Given the description of an element on the screen output the (x, y) to click on. 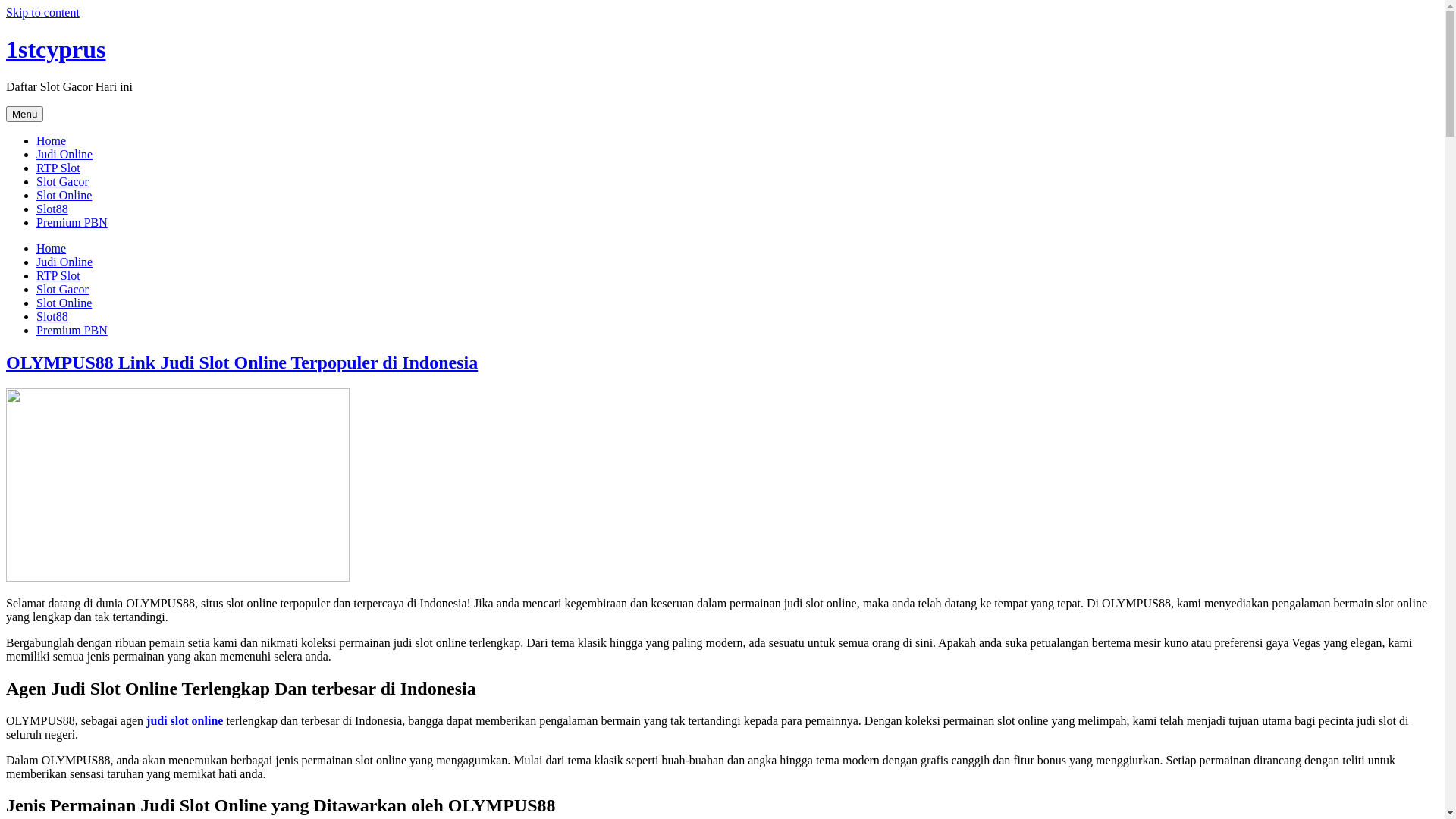
Menu Element type: text (24, 114)
Slot Online Element type: text (63, 194)
Judi Online Element type: text (64, 261)
RTP Slot Element type: text (58, 275)
Home Element type: text (50, 140)
Slot Gacor Element type: text (62, 181)
judi slot online Element type: text (184, 720)
Skip to content Element type: text (42, 12)
Premium PBN Element type: text (71, 222)
1stcyprus Element type: text (56, 48)
Slot Online Element type: text (63, 302)
Premium PBN Element type: text (71, 329)
Slot Gacor Element type: text (62, 288)
Slot88 Element type: text (52, 316)
OLYMPUS88 Link Judi Slot Online Terpopuler di Indonesia Element type: text (241, 362)
Judi Online Element type: text (64, 153)
RTP Slot Element type: text (58, 167)
Slot88 Element type: text (52, 208)
Home Element type: text (50, 247)
